Given the description of an element on the screen output the (x, y) to click on. 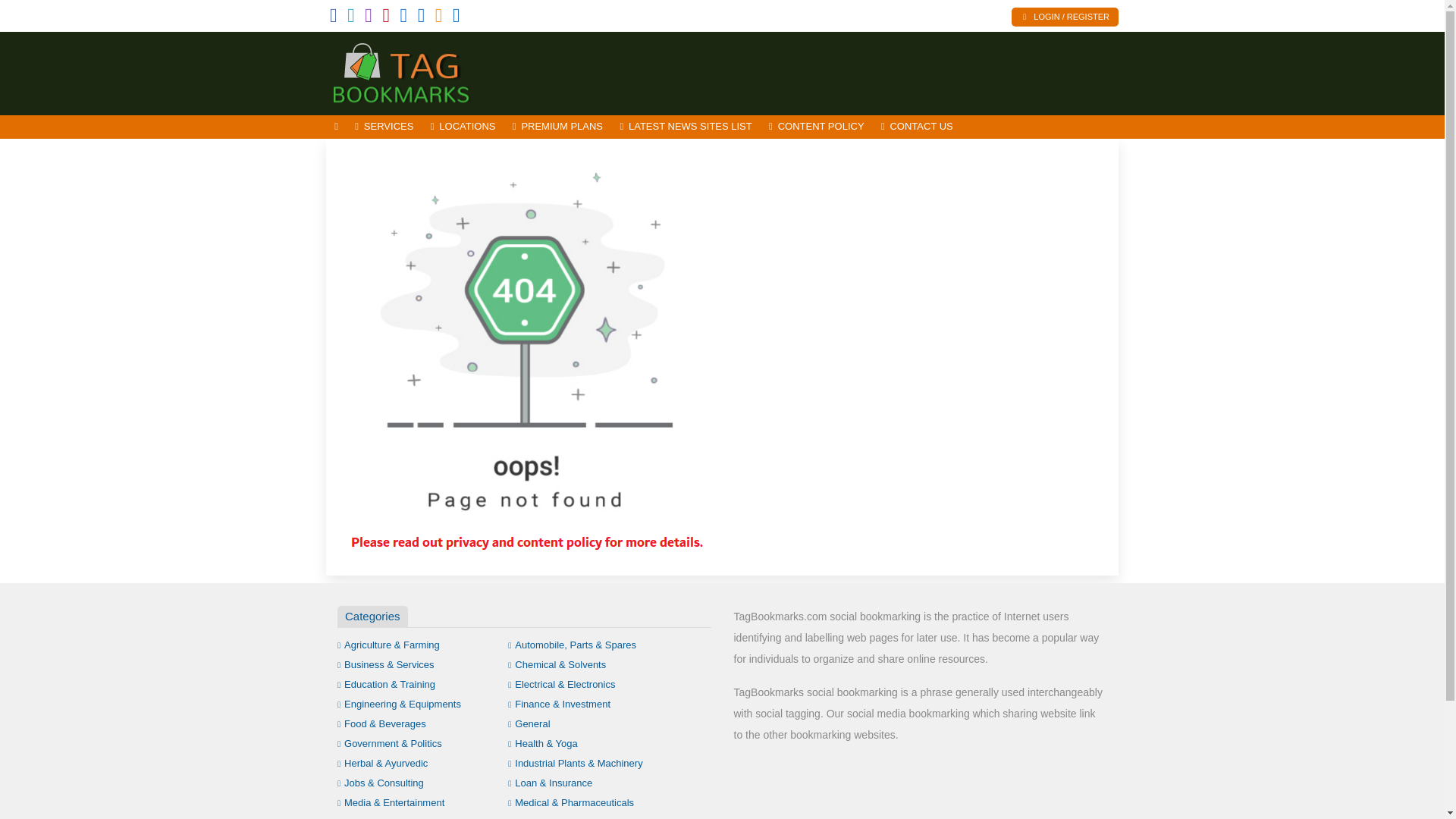
LATEST NEWS SITES LIST (685, 126)
SERVICES (384, 126)
CONTACT US (916, 126)
PREMIUM PLANS (557, 126)
CONTENT POLICY (816, 126)
General (529, 723)
Increase Website Traffic and SEO by Listing in Search Engine (428, 71)
LOCATIONS (462, 126)
